Given the description of an element on the screen output the (x, y) to click on. 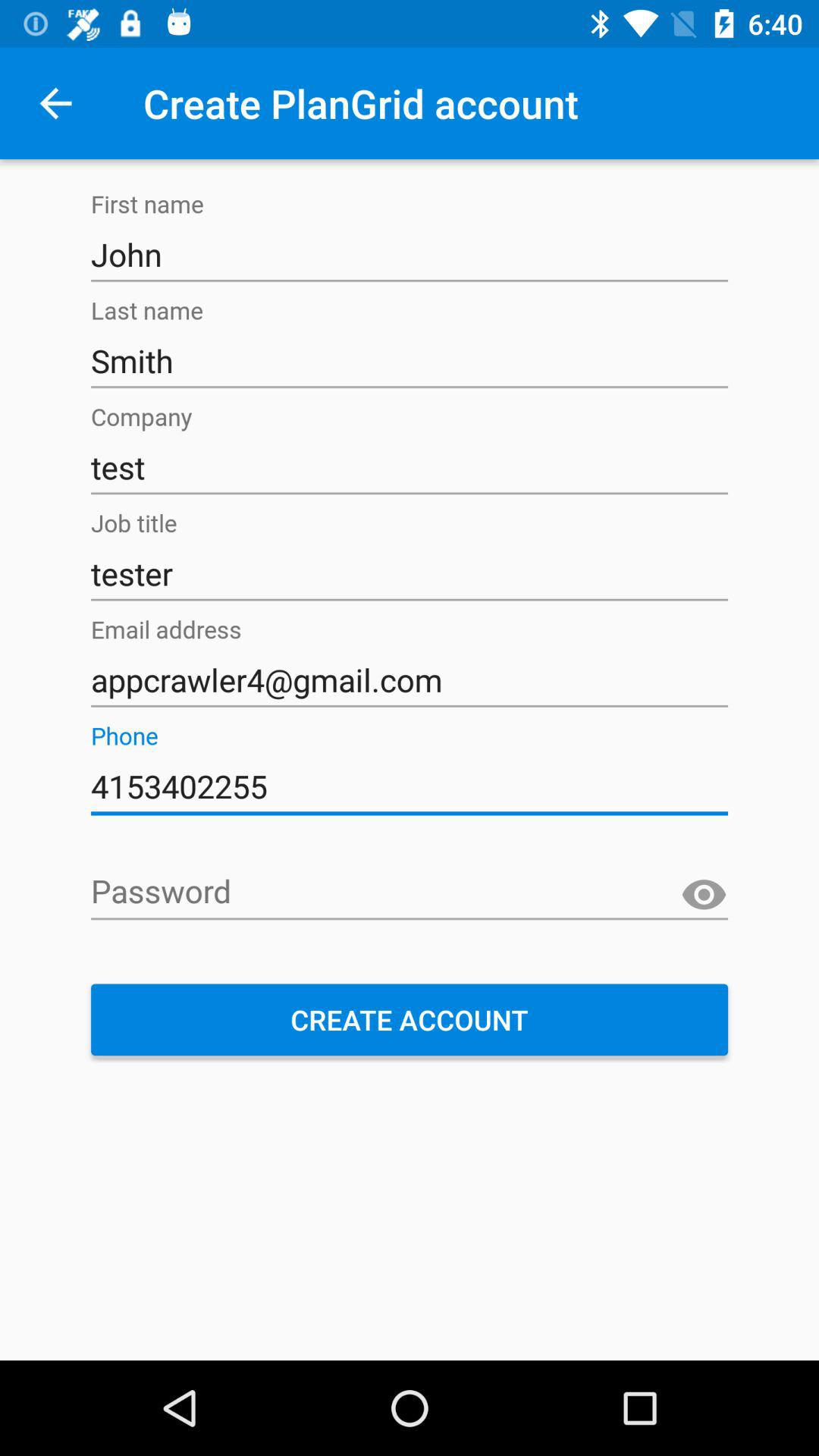
enter your password (409, 892)
